Given the description of an element on the screen output the (x, y) to click on. 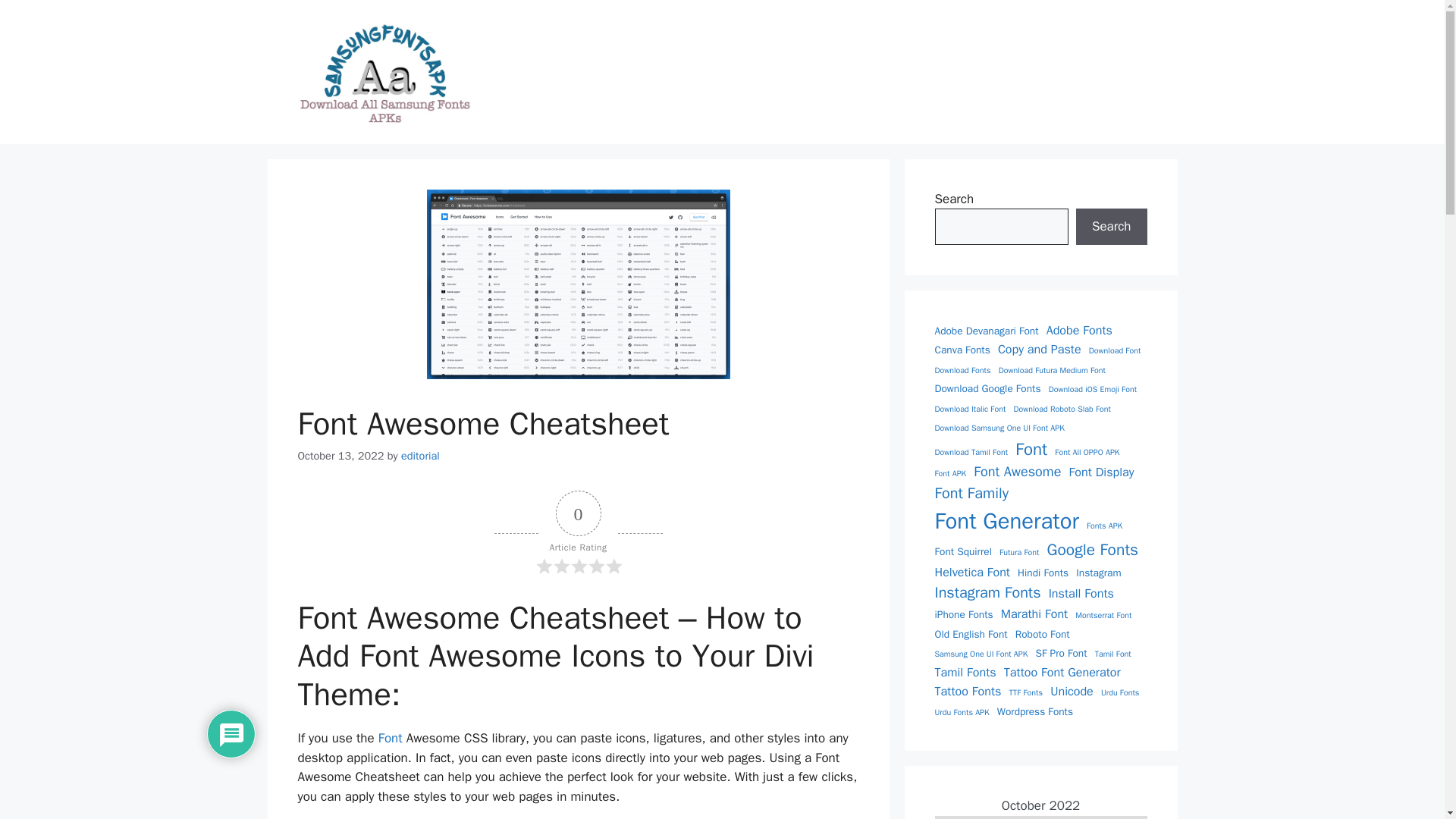
editorial (420, 455)
View all posts by editorial (420, 455)
Font (390, 738)
